Given the description of an element on the screen output the (x, y) to click on. 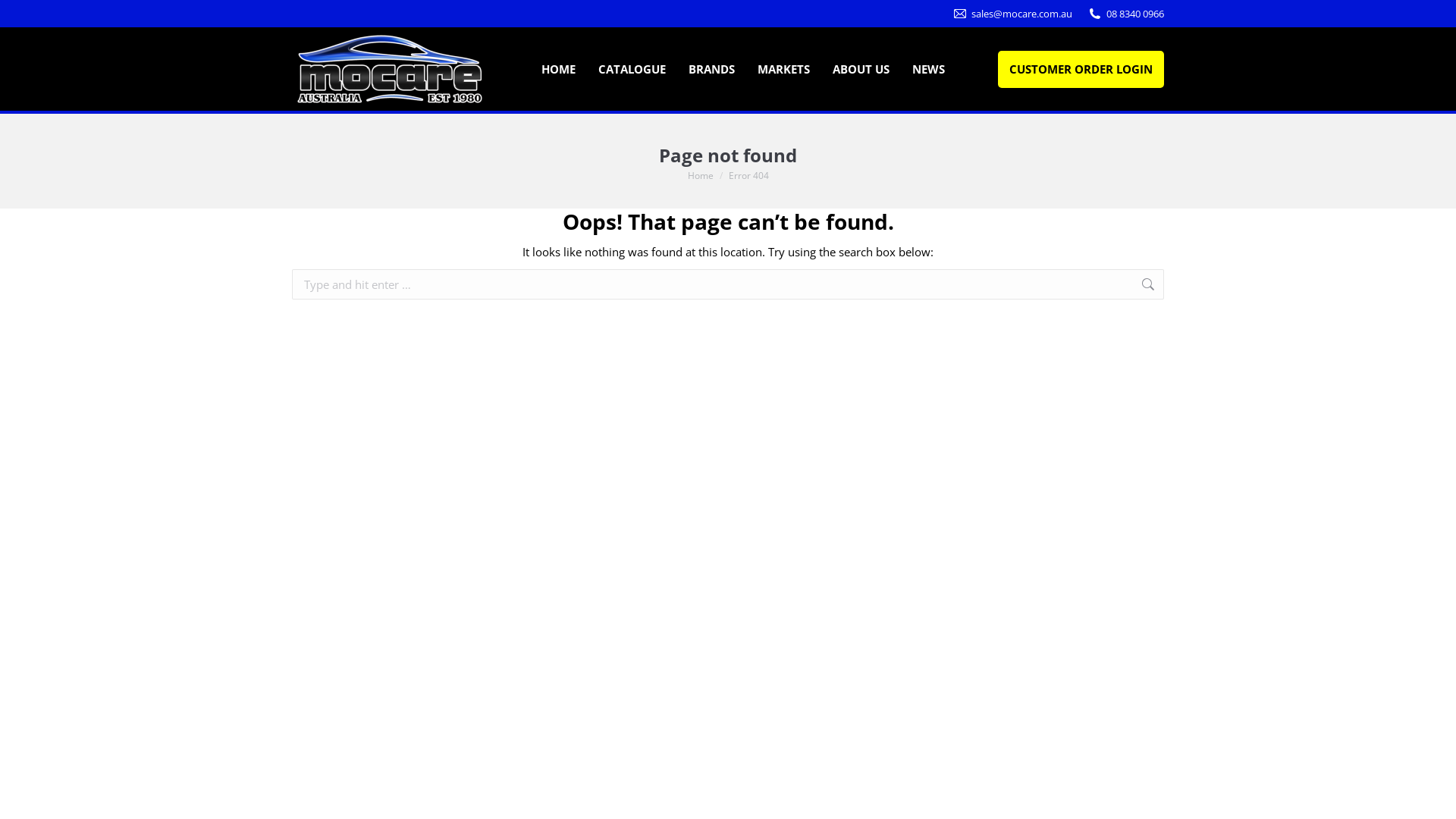
HOME Element type: text (558, 69)
08 8340 0966 Element type: text (1135, 13)
CUSTOMER ORDER LOGIN Element type: text (1080, 68)
MARKETS Element type: text (782, 69)
sales@mocare.com.au Element type: text (1021, 13)
BRANDS Element type: text (711, 69)
Go! Element type: text (1187, 285)
CATALOGUE Element type: text (630, 69)
Home Element type: text (699, 174)
NEWS Element type: text (927, 69)
ABOUT US Element type: text (861, 69)
